Given the description of an element on the screen output the (x, y) to click on. 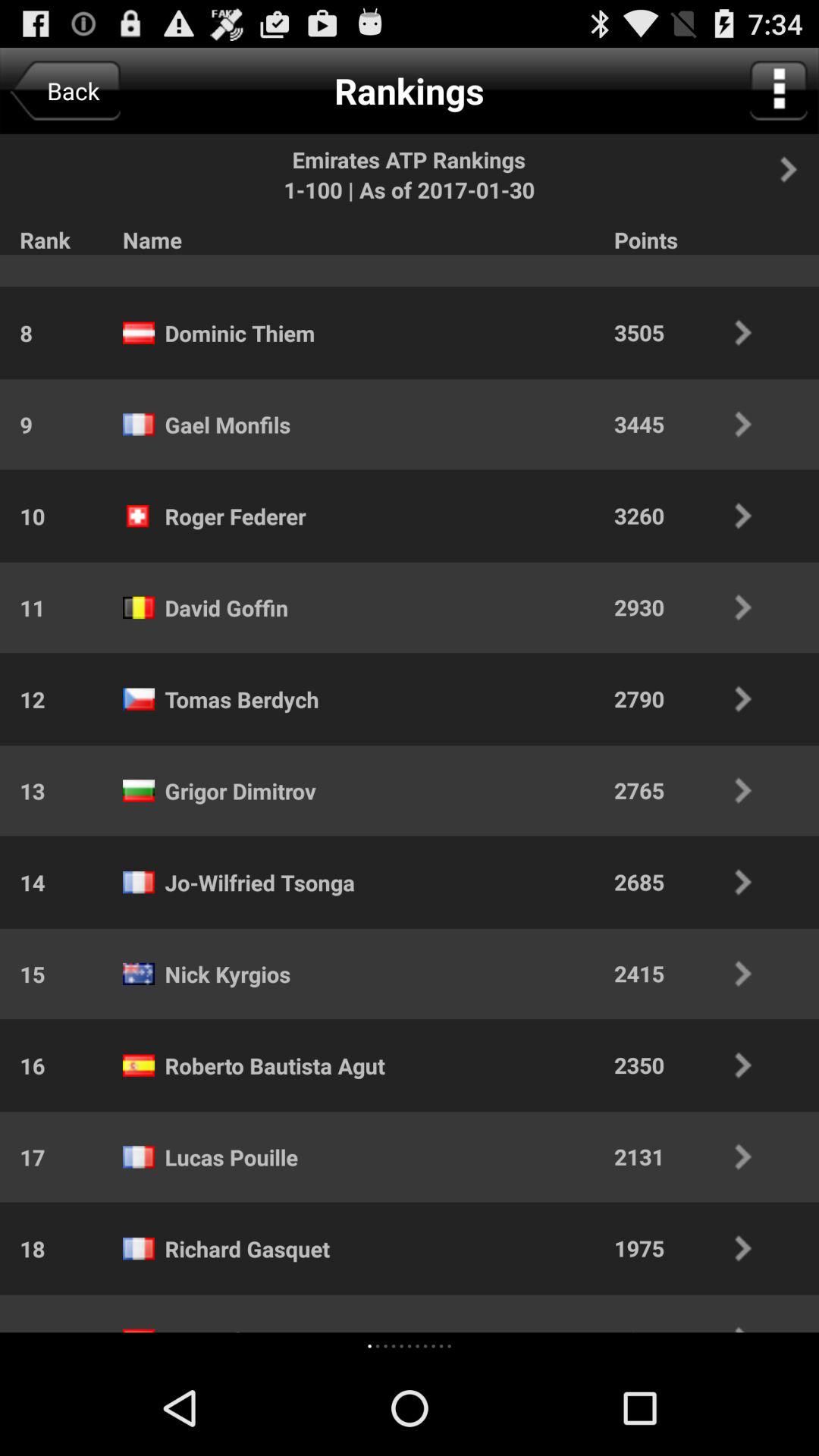
choose app below name item (217, 255)
